Given the description of an element on the screen output the (x, y) to click on. 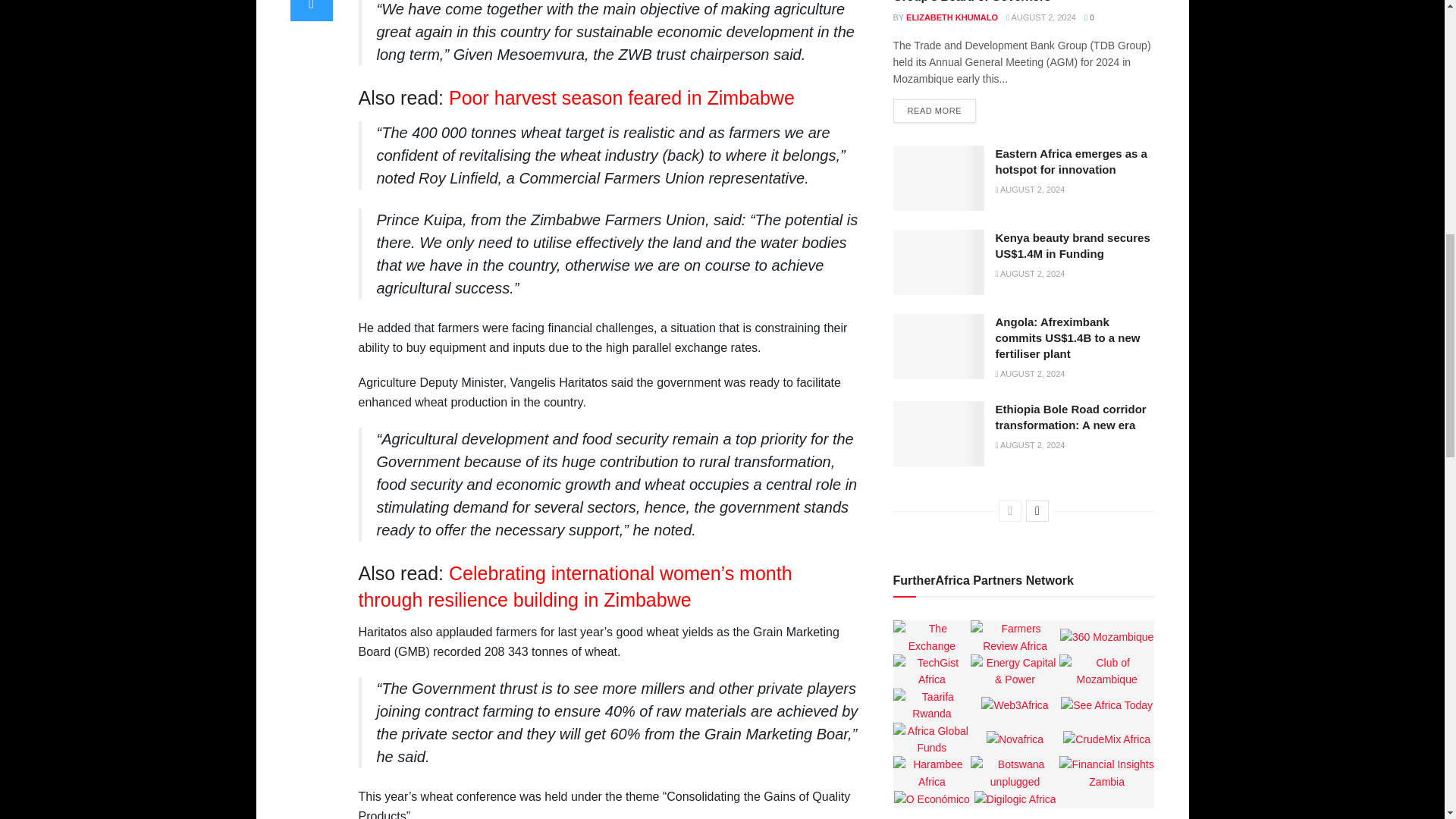
Previous (1010, 510)
Next (1037, 510)
